Given the description of an element on the screen output the (x, y) to click on. 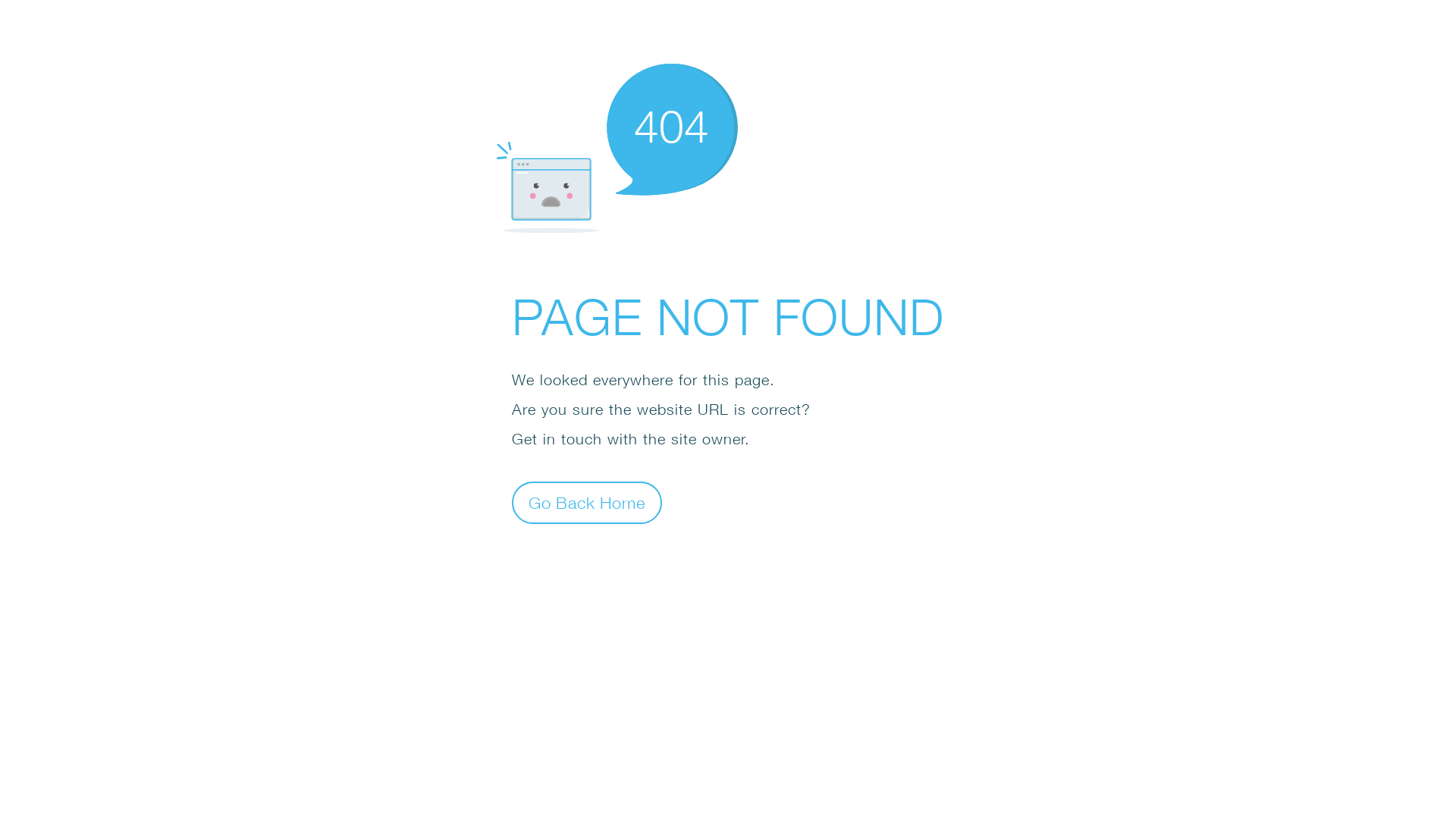
Go Back Home Element type: text (586, 502)
